Given the description of an element on the screen output the (x, y) to click on. 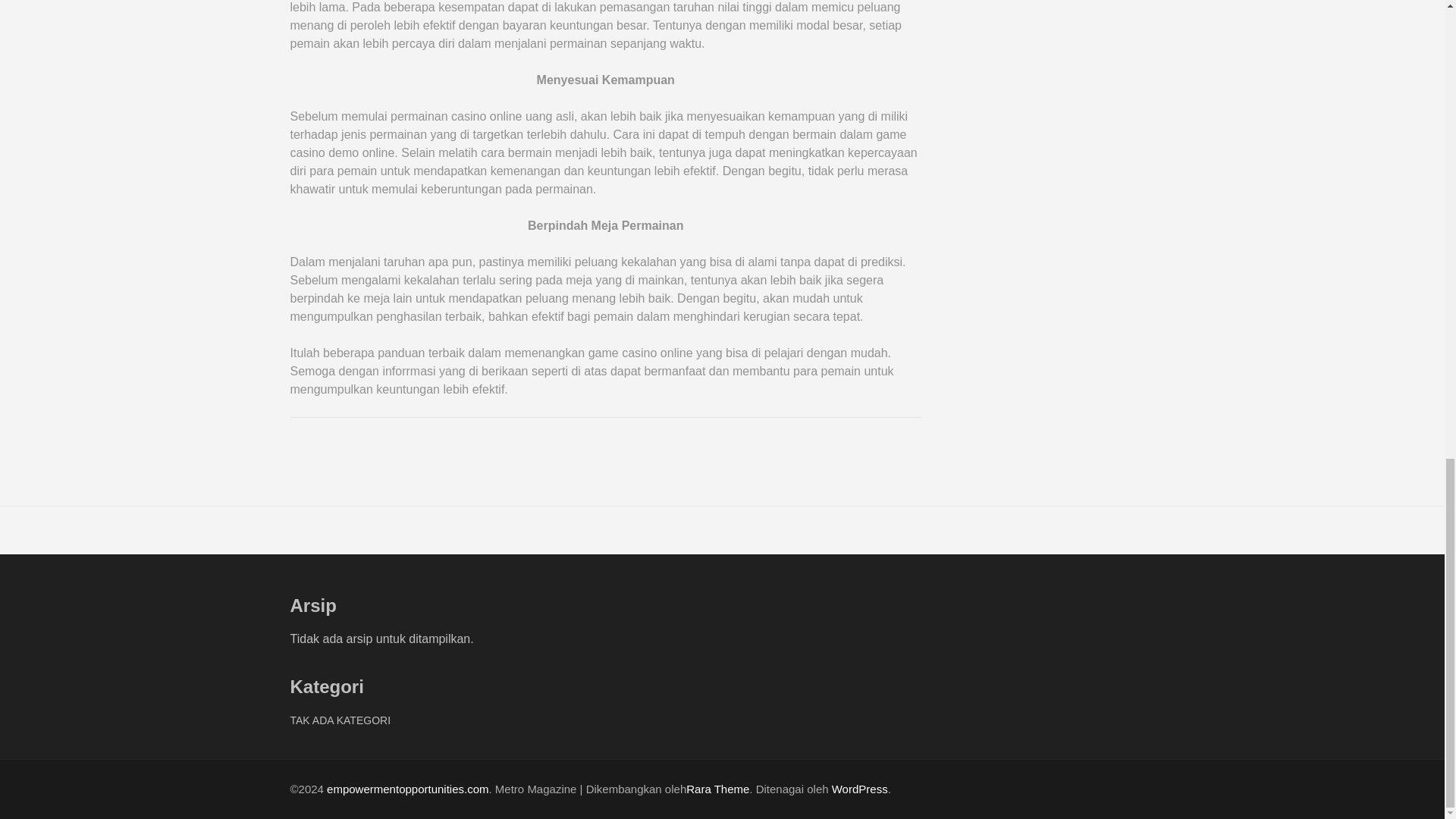
Rara Theme (717, 788)
WordPress (859, 788)
empowermentopportunities.com (406, 788)
